Given the description of an element on the screen output the (x, y) to click on. 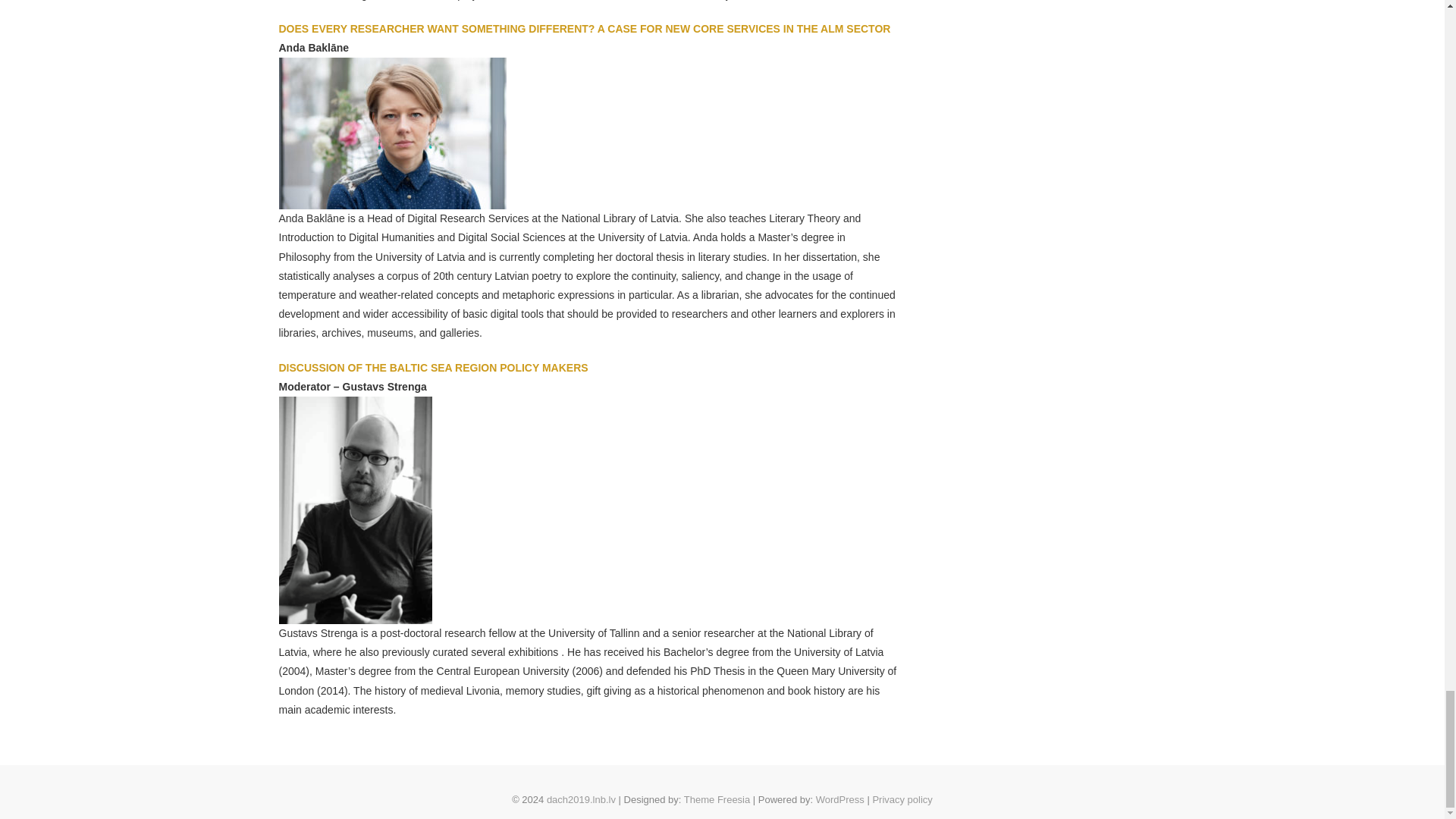
WordPress (901, 799)
Privacy policy (901, 799)
dach2019.lnb.lv (581, 799)
WordPress (839, 799)
Theme Freesia (716, 799)
WordPress (839, 799)
dach2019.lnb.lv (581, 799)
Theme Freesia (716, 799)
